Given the description of an element on the screen output the (x, y) to click on. 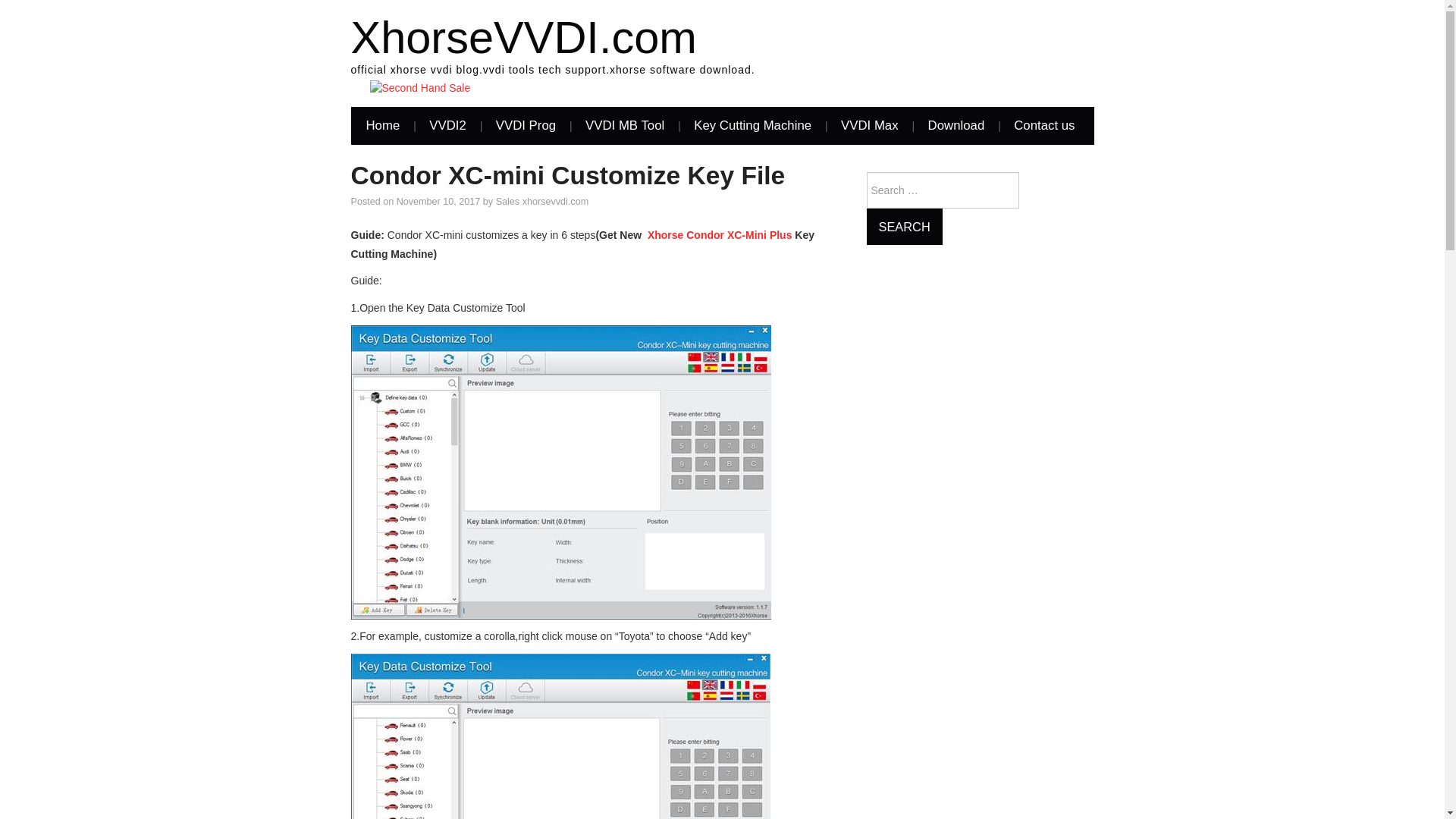
XhorseVVDI.com (522, 37)
condor-xc-mini-customize-key-file-01  (560, 472)
Key Cutting Machine (752, 125)
View all posts by Sales xhorsevvdi.com (542, 201)
Download (956, 125)
condor-xc-mini-customize-key-file-02  (560, 736)
Search (904, 226)
VVDI Max (869, 125)
VVDI MB Tool (624, 125)
Search (904, 226)
Contact us (1043, 125)
VVDI2 (447, 125)
Second Hand Sale (419, 87)
Home (382, 125)
Sales xhorsevvdi.com (542, 201)
